Given the description of an element on the screen output the (x, y) to click on. 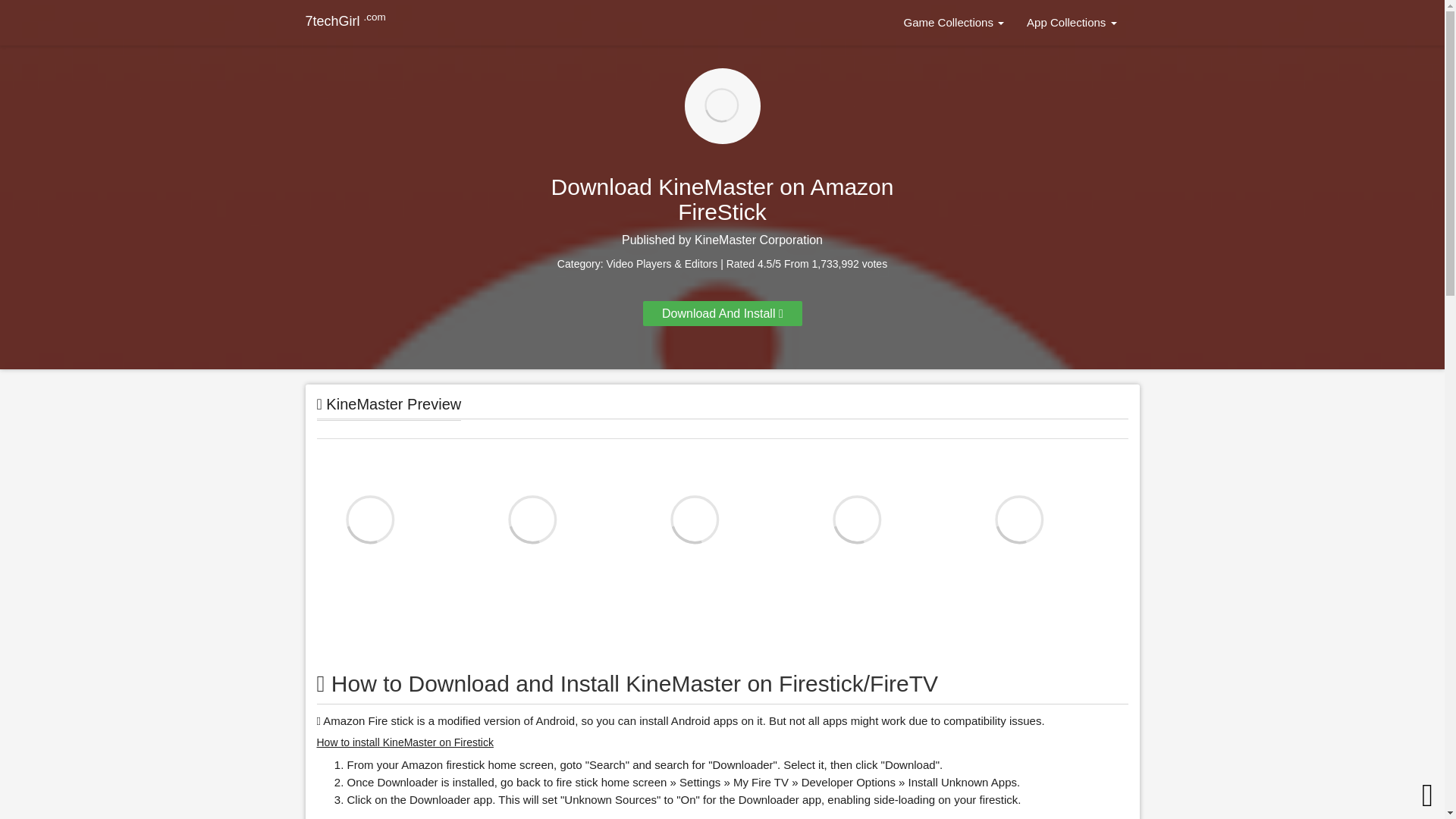
Download And Install (722, 313)
7techGirl .com (344, 20)
App Collections (1070, 22)
Game Collections (954, 22)
